Given the description of an element on the screen output the (x, y) to click on. 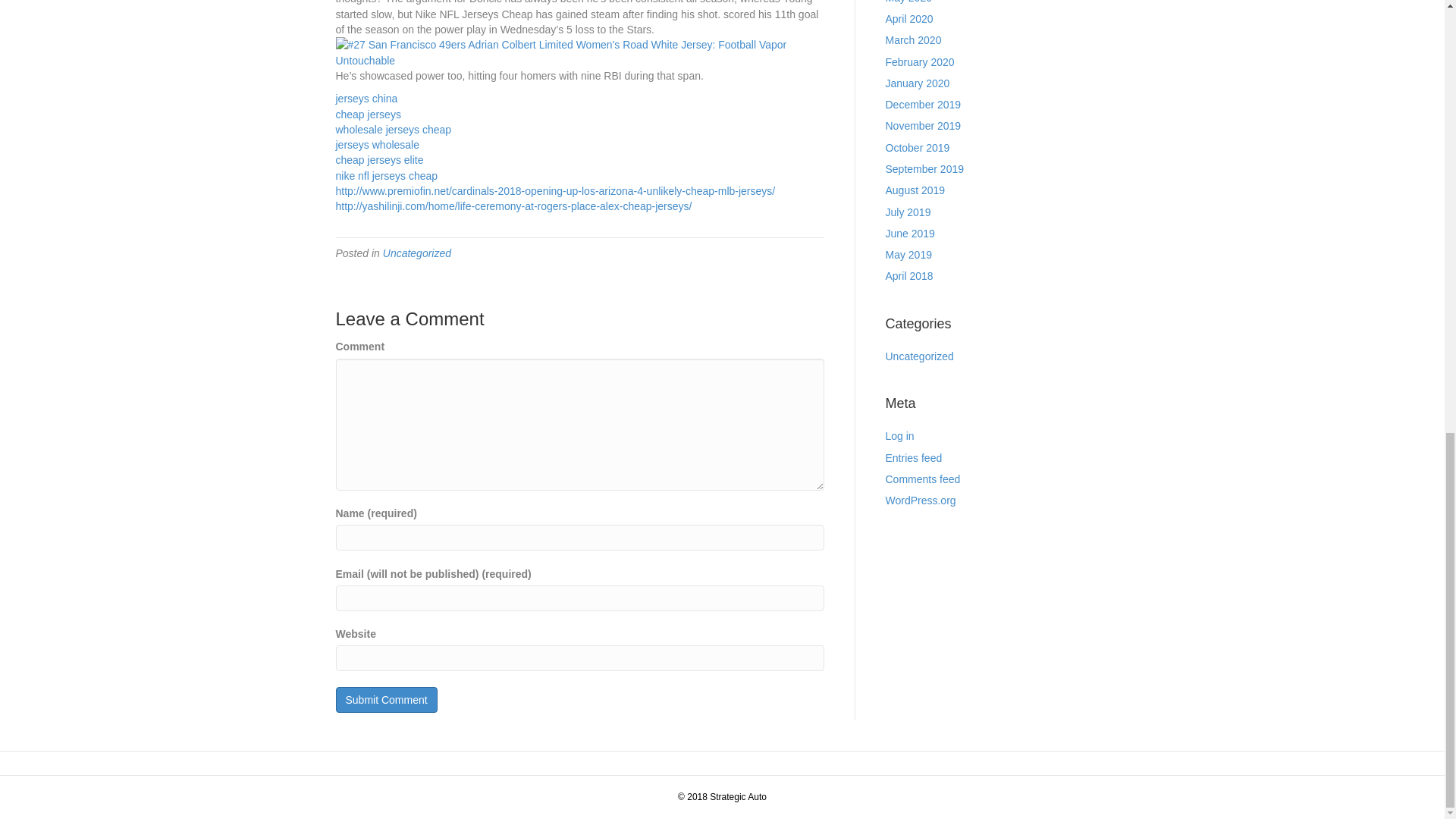
Uncategorized (416, 253)
Submit Comment (385, 699)
wholesale jerseys cheap (392, 129)
cheap jerseys (367, 114)
cheap jerseys elite (378, 159)
nike nfl jerseys cheap (386, 175)
jerseys wholesale (376, 144)
Submit Comment (385, 699)
jerseys china (365, 98)
